Given the description of an element on the screen output the (x, y) to click on. 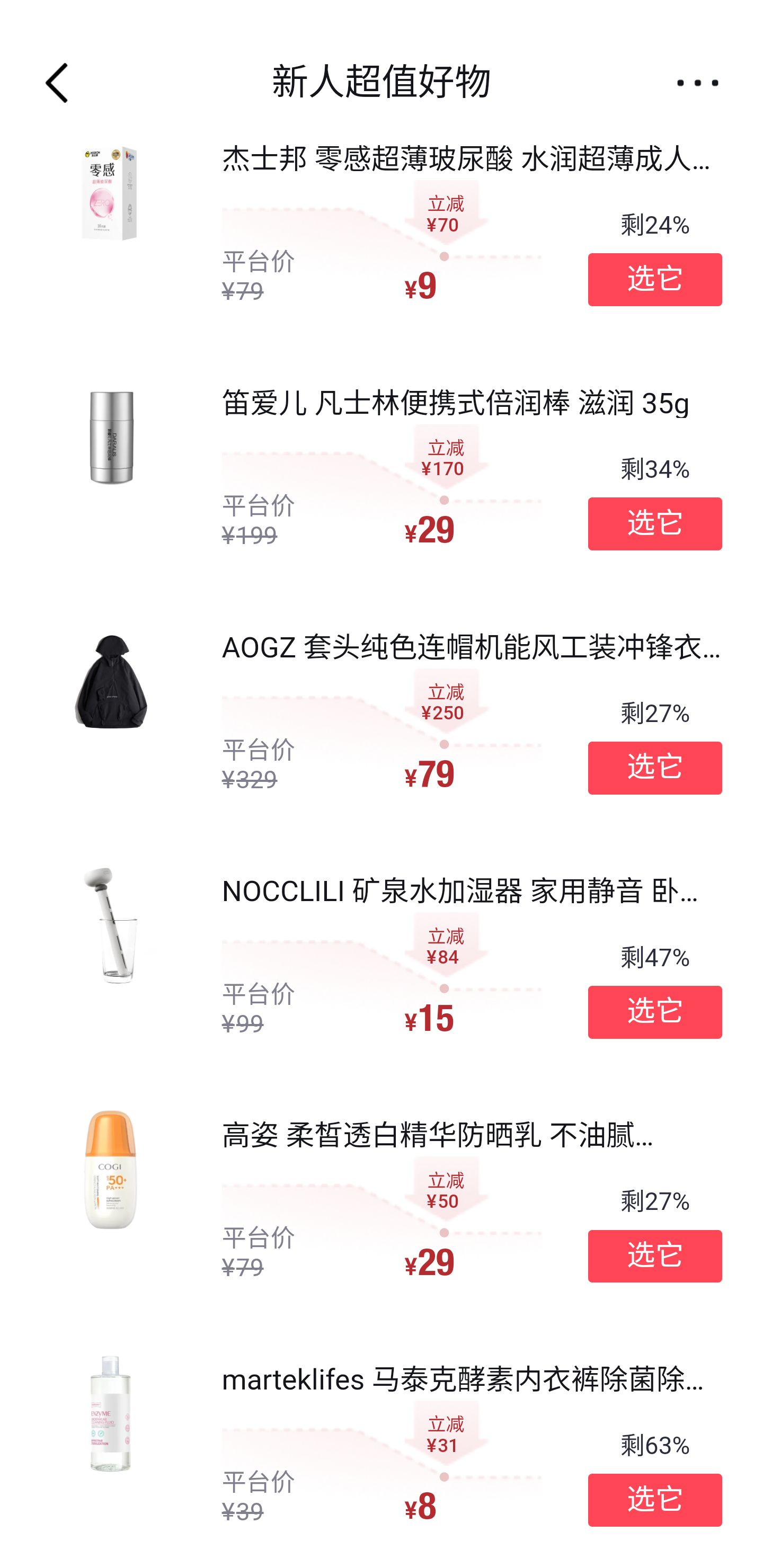
选它 (654, 279)
笛爱儿 凡士林便携式倍润棒 滋润 35g 平台价 ¥ 199 立减¥170 ¥ 29 剩34% 选它 (381, 468)
选它 (654, 524)
选它 (654, 767)
选它 (654, 1011)
选它 (654, 1255)
选它 (654, 1500)
